Given the description of an element on the screen output the (x, y) to click on. 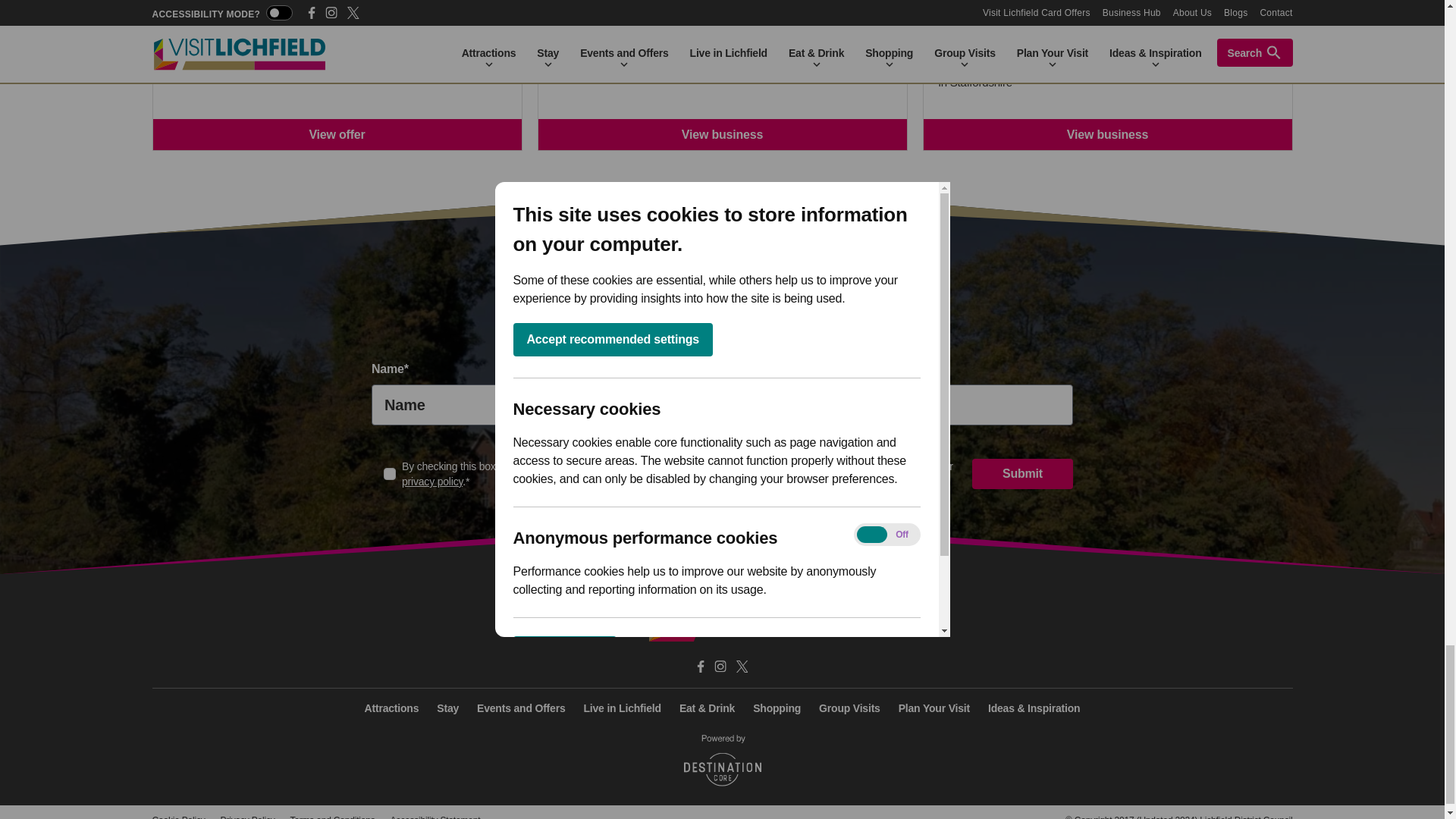
Visit Lichfield Instagram (719, 666)
Visit Lichfield Twitter (742, 666)
on (390, 473)
